Given the description of an element on the screen output the (x, y) to click on. 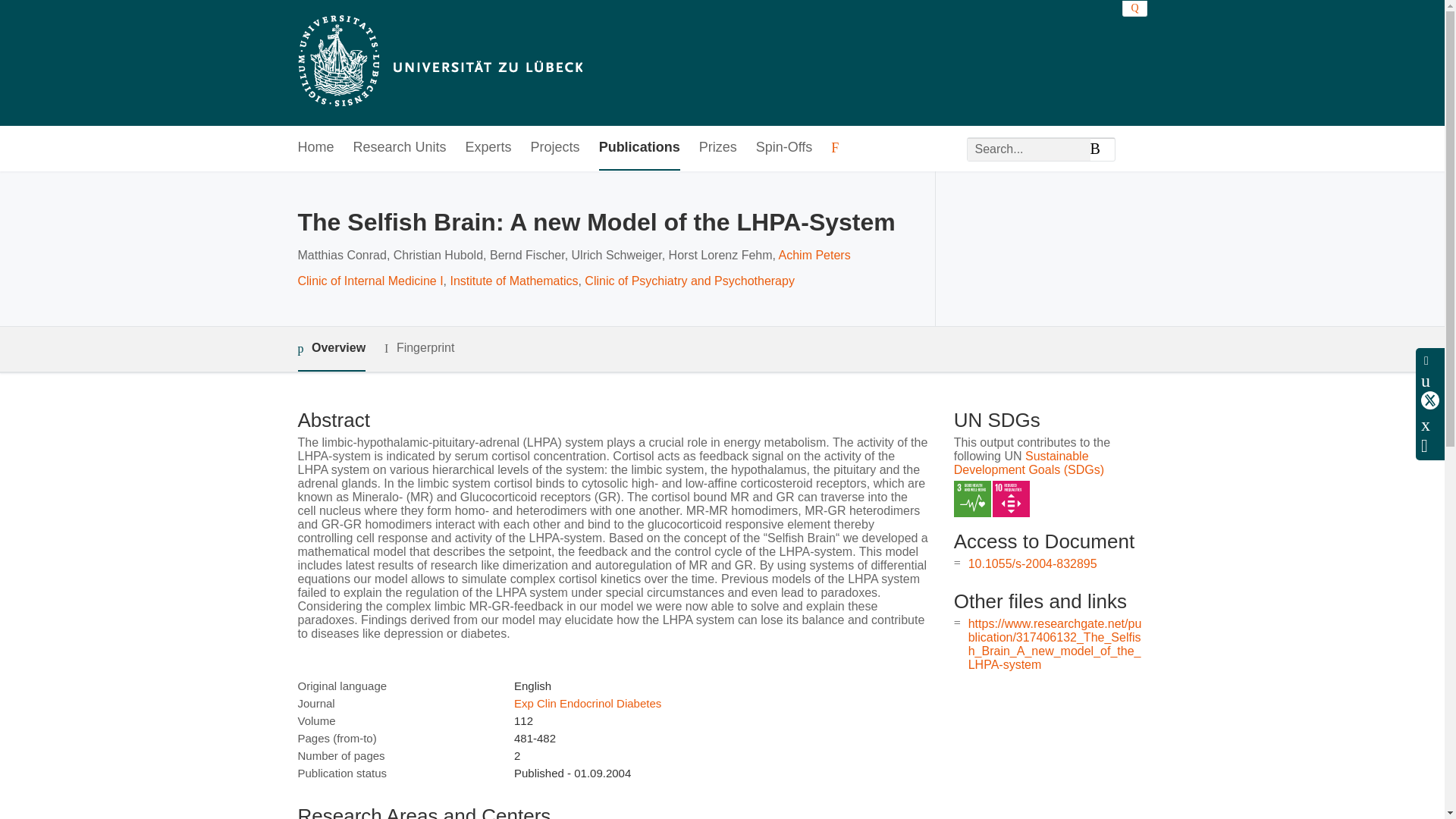
Prizes (717, 148)
SDG 3 - Good Health and Well-being (972, 498)
SDG 10 - Reduced Inequalities (1010, 498)
Achim Peters (814, 254)
Exp Clin Endocrinol Diabetes (587, 703)
Spin-Offs (783, 148)
Home (315, 148)
Institute of Mathematics (513, 280)
Overview (331, 348)
Publications (638, 148)
Fingerprint (419, 348)
Experts (488, 148)
Research Units (399, 148)
University of Luebeck Home (438, 62)
